Given the description of an element on the screen output the (x, y) to click on. 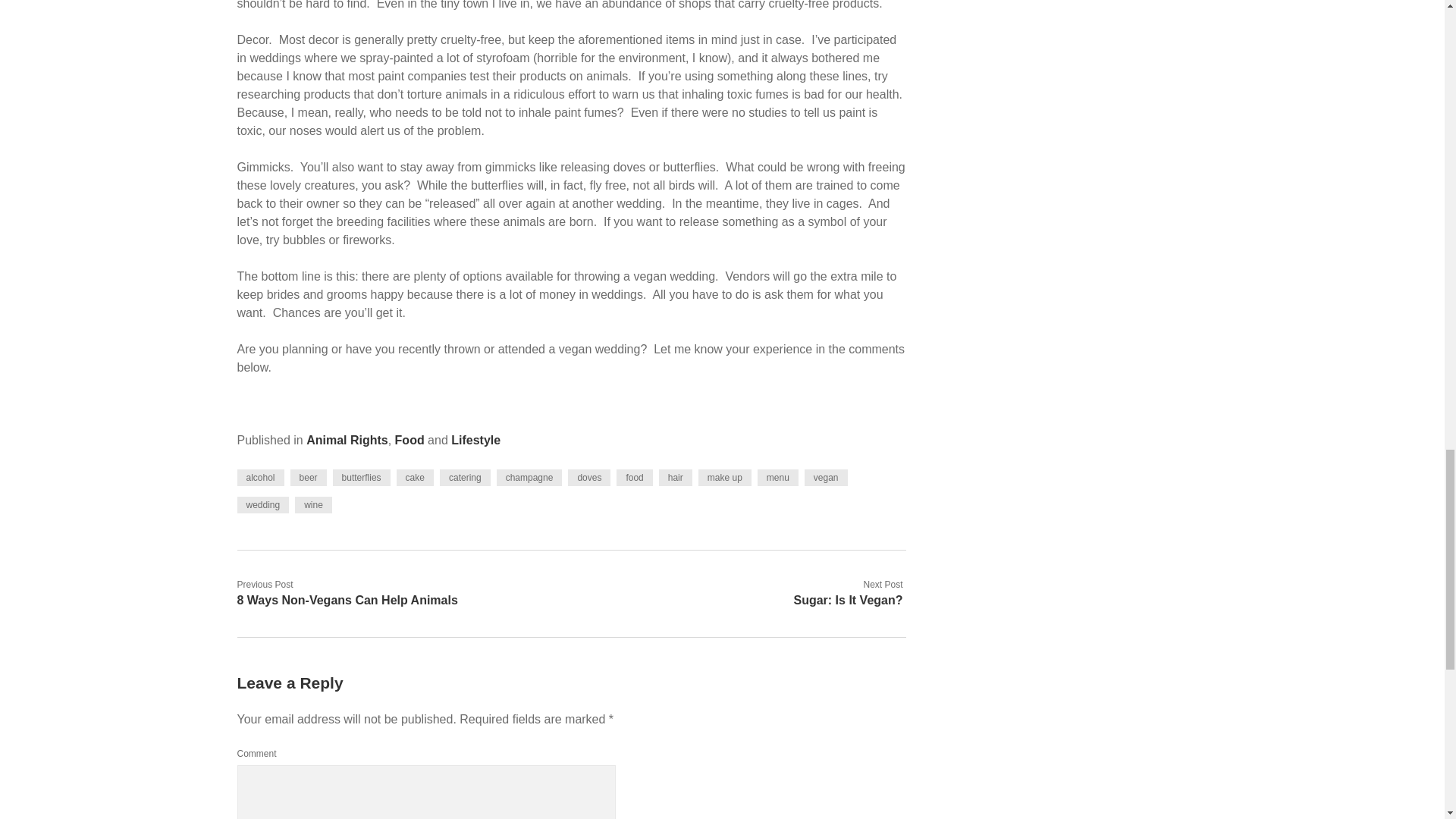
View all posts in Lifestyle (475, 440)
View all posts in Animal Rights (346, 440)
8 Ways Non-Vegans Can Help Animals (346, 599)
View all posts in Food (409, 440)
wine (313, 504)
Food (409, 440)
alcohol (259, 477)
vegan (826, 477)
View all posts tagged beer (307, 477)
doves (588, 477)
